Given the description of an element on the screen output the (x, y) to click on. 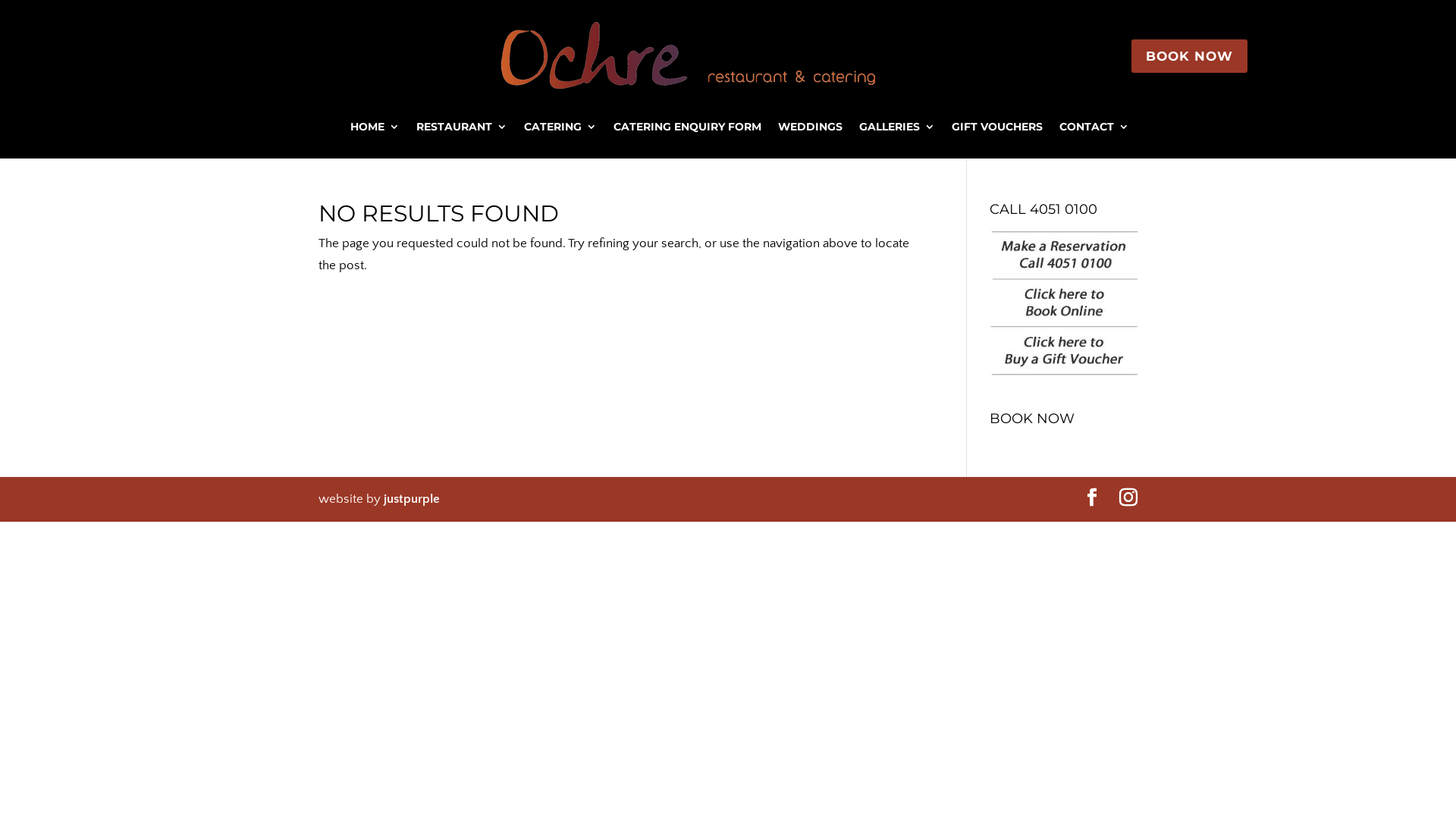
CATERING Element type: text (559, 129)
justpurple Element type: text (411, 498)
BOOK NOW Element type: text (1189, 55)
CATERING ENQUIRY FORM Element type: text (686, 129)
RESTAURANT Element type: text (460, 129)
HOME Element type: text (374, 129)
GALLERIES Element type: text (896, 129)
CONTACT Element type: text (1093, 129)
smlessochre_logo_highres Element type: hover (686, 55)
WEDDINGS Element type: text (810, 129)
GIFT VOUCHERS Element type: text (995, 129)
